Given the description of an element on the screen output the (x, y) to click on. 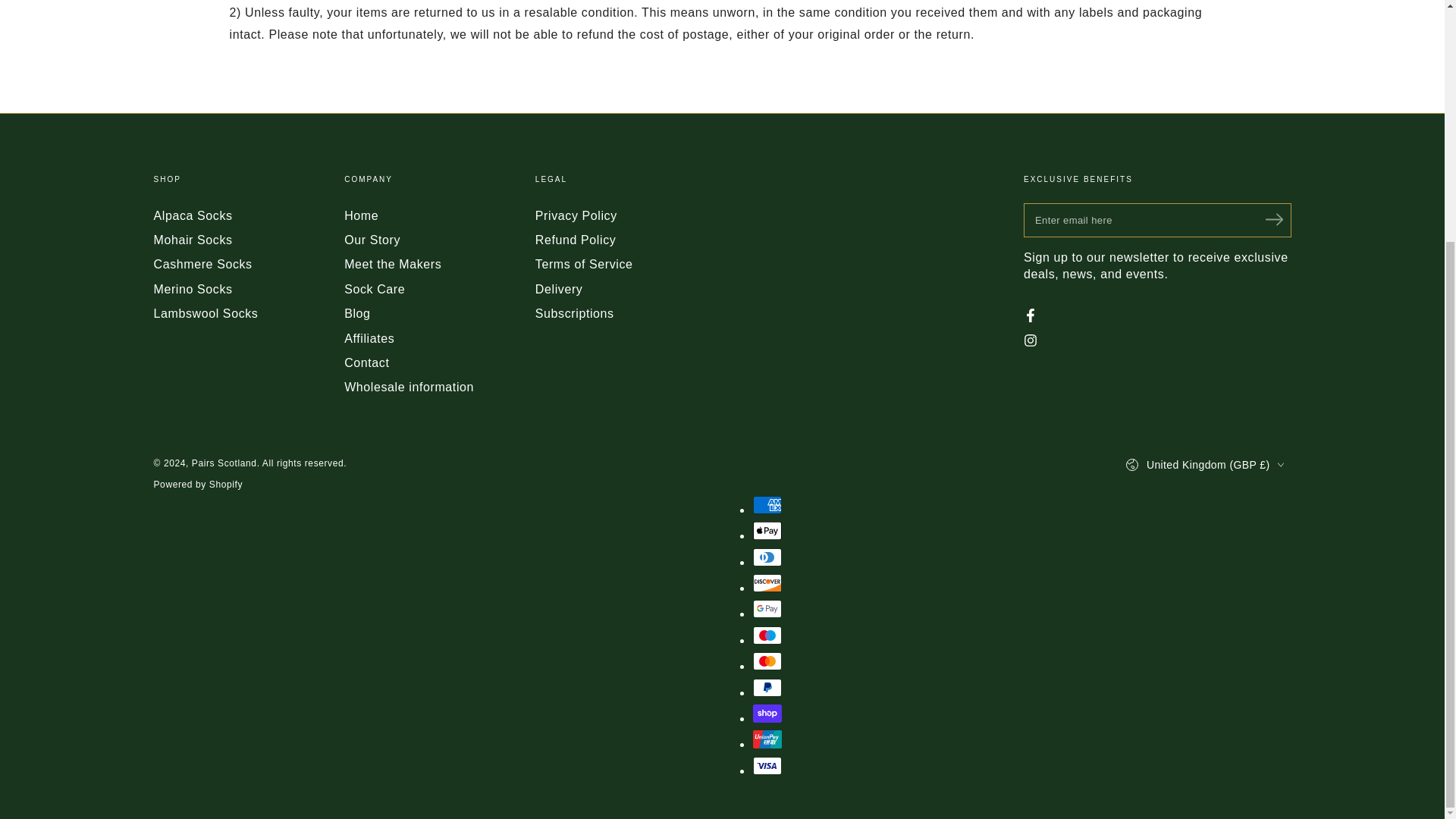
Apple Pay (766, 530)
PayPal (766, 687)
Shop Pay (766, 713)
Mastercard (766, 660)
Union Pay (766, 739)
American Express (766, 505)
Discover (766, 583)
Google Pay (766, 608)
Visa (766, 765)
Maestro (766, 635)
Diners Club (766, 556)
